Given the description of an element on the screen output the (x, y) to click on. 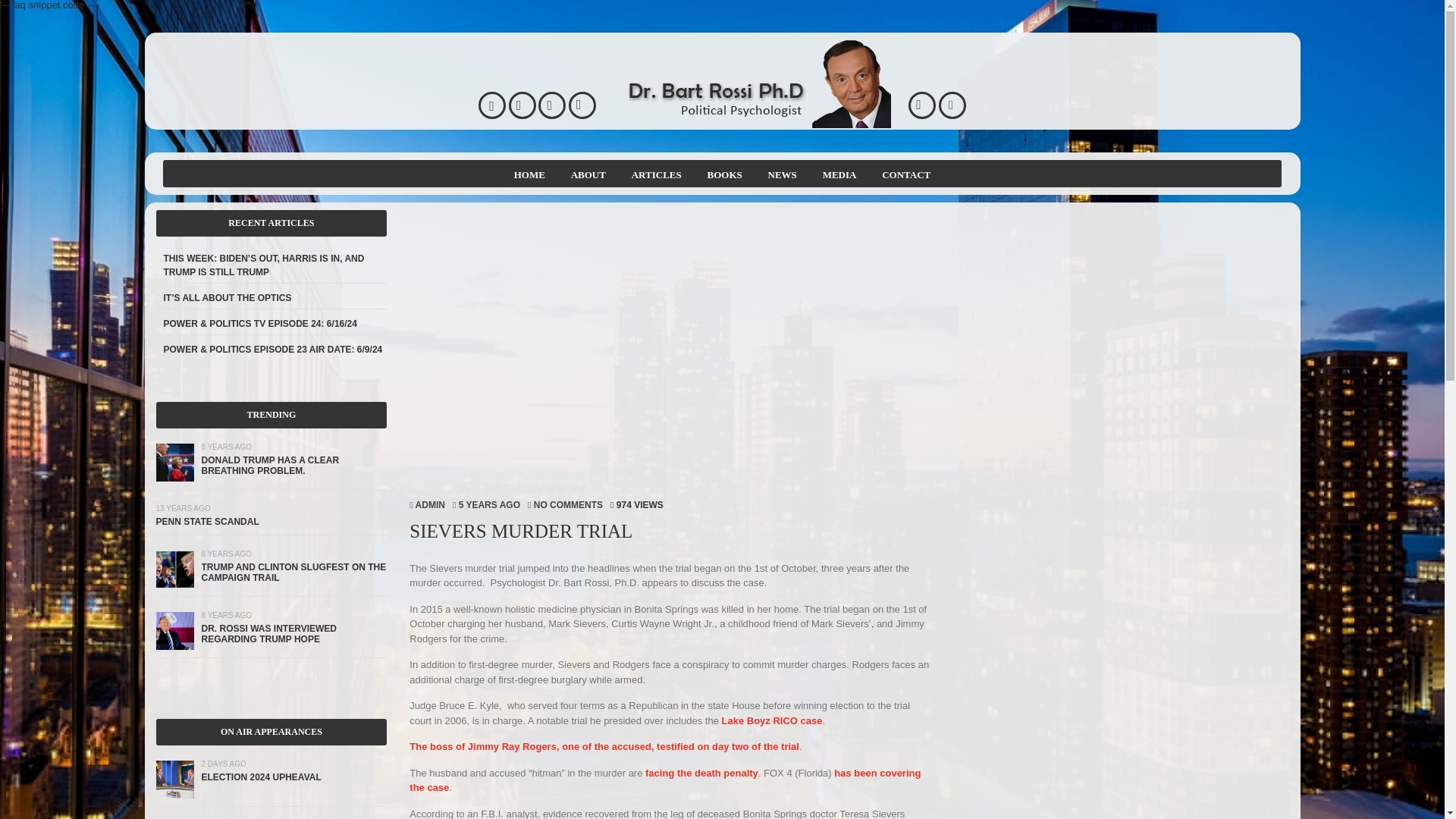
ABOUT (587, 174)
Donald Trump has a clear breathing problem. (270, 465)
Dr. Rossi was Interviewed Regarding Trump Hope (174, 645)
MEDIA (839, 174)
HOME (528, 174)
Trump and Clinton Slugfest on the Campaign Trail (174, 584)
DR. ROSSI WAS INTERVIEWED REGARDING TRUMP HOPE (269, 633)
PENN STATE SCANDAL (207, 521)
BOOKS (724, 174)
Lake Boyz RICO Case (772, 719)
